Given the description of an element on the screen output the (x, y) to click on. 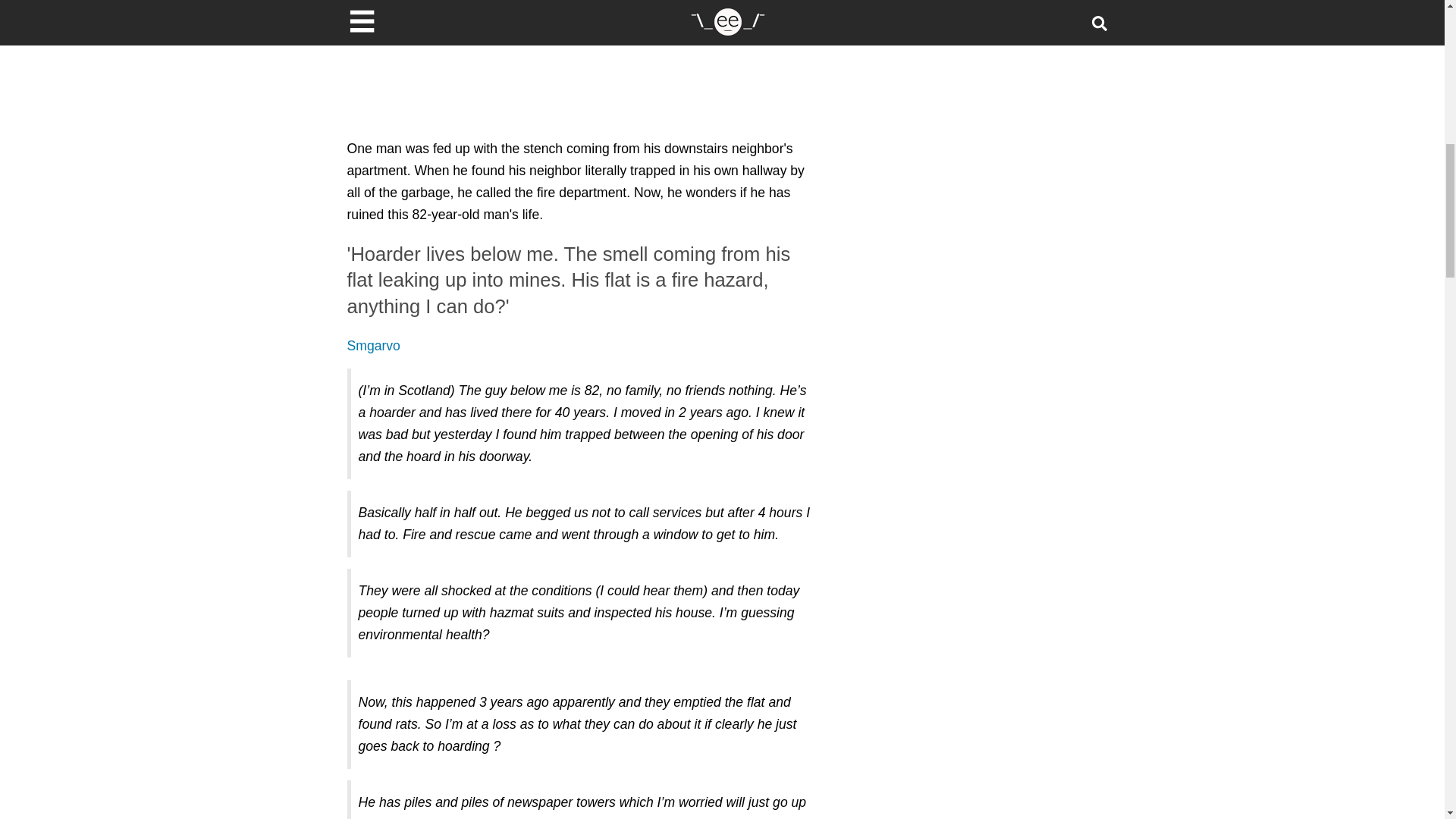
Smgarvo (373, 345)
